Given the description of an element on the screen output the (x, y) to click on. 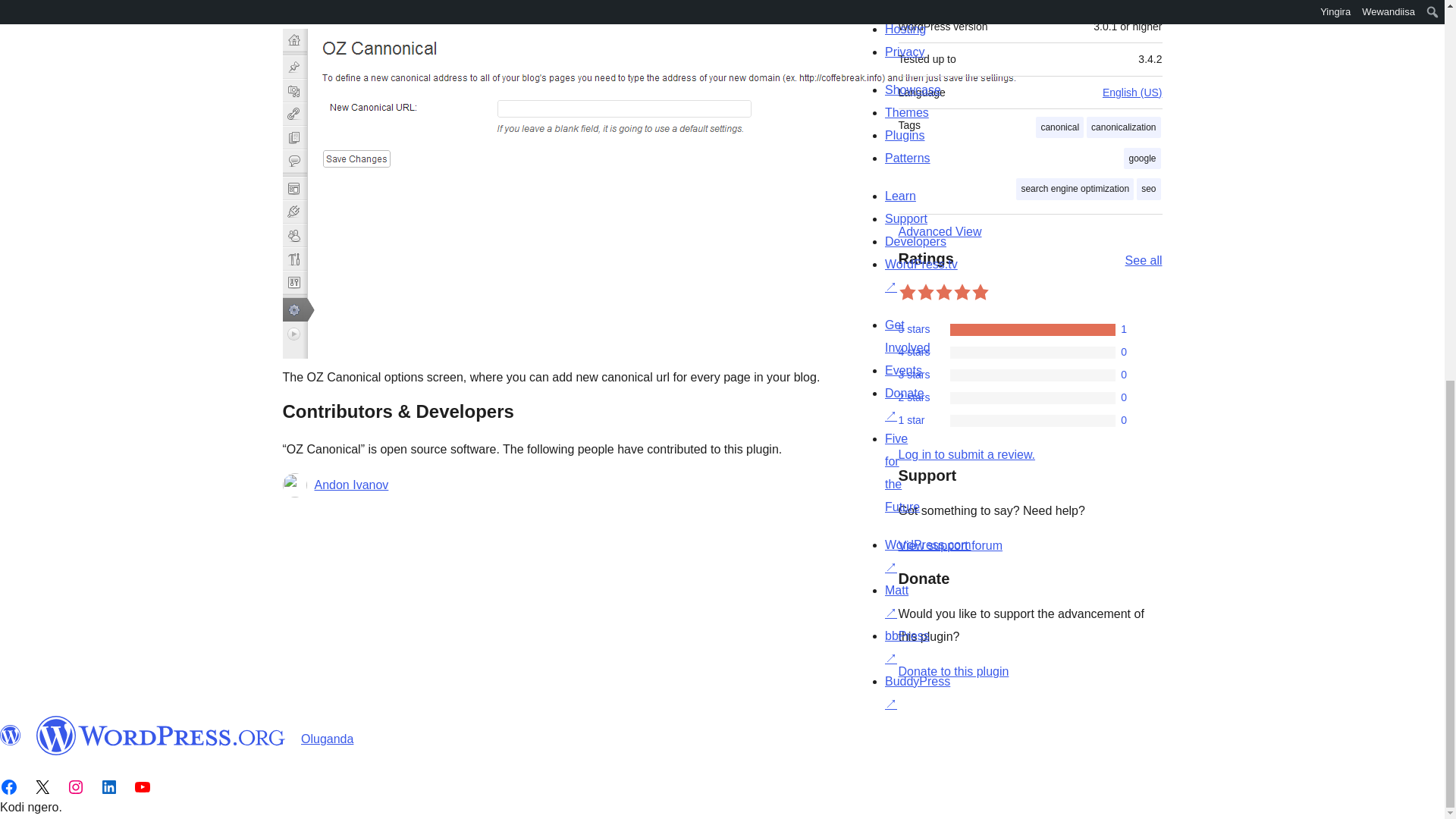
WordPress.org (160, 735)
Andon Ivanov (351, 485)
Log in to WordPress.org (966, 454)
canonicalization (1123, 127)
canonical (1059, 127)
WordPress.org (10, 735)
